Given the description of an element on the screen output the (x, y) to click on. 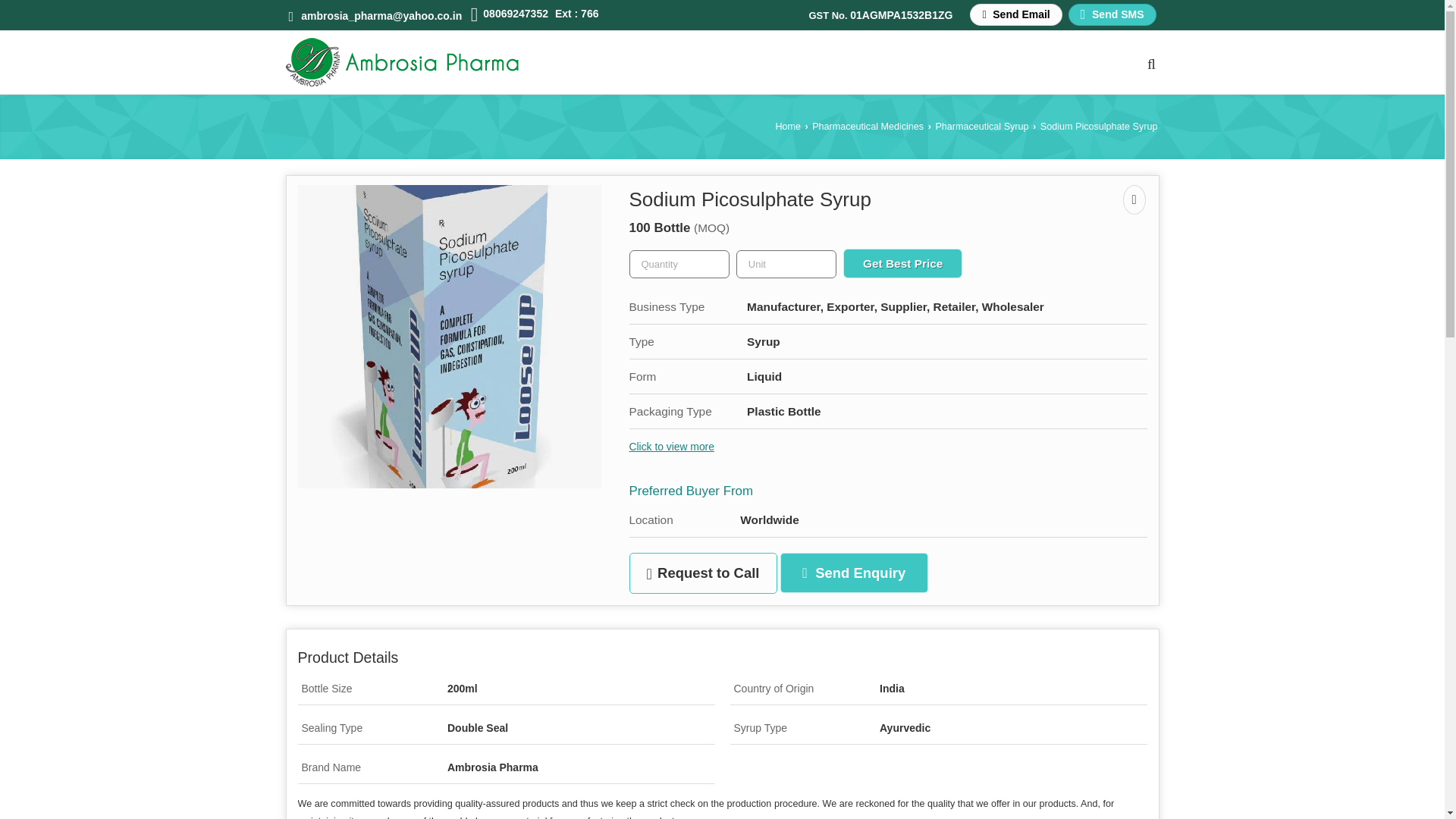
Ambrosia Pharma (401, 61)
Send Email (1015, 14)
Send SMS (1112, 14)
